Given the description of an element on the screen output the (x, y) to click on. 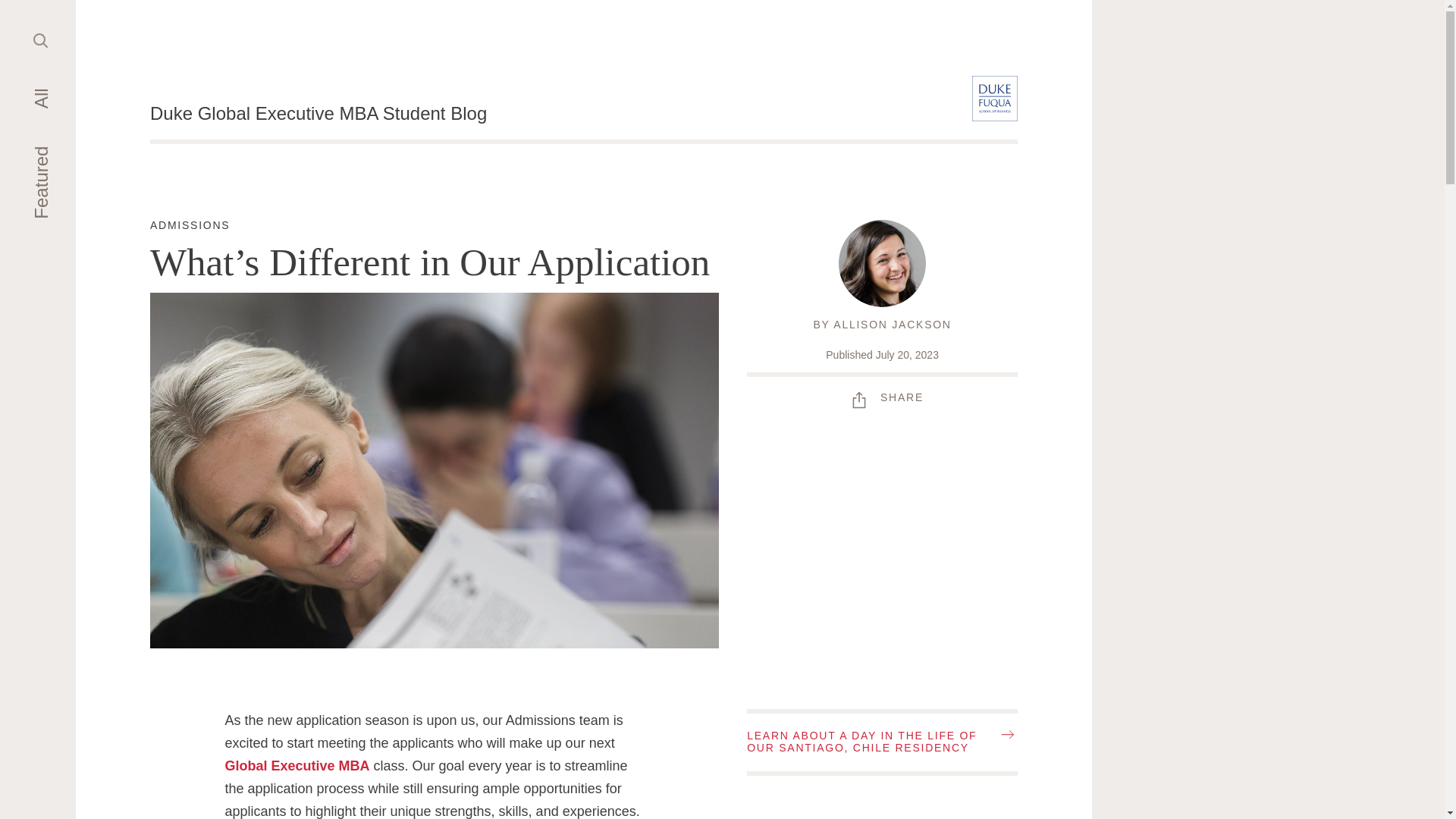
Duke Global Executive MBA Student Blog (189, 225)
Search (317, 113)
Featured (40, 40)
SHARE (66, 158)
ALLISON JACKSON (882, 396)
Global Executive MBA (891, 324)
